Given the description of an element on the screen output the (x, y) to click on. 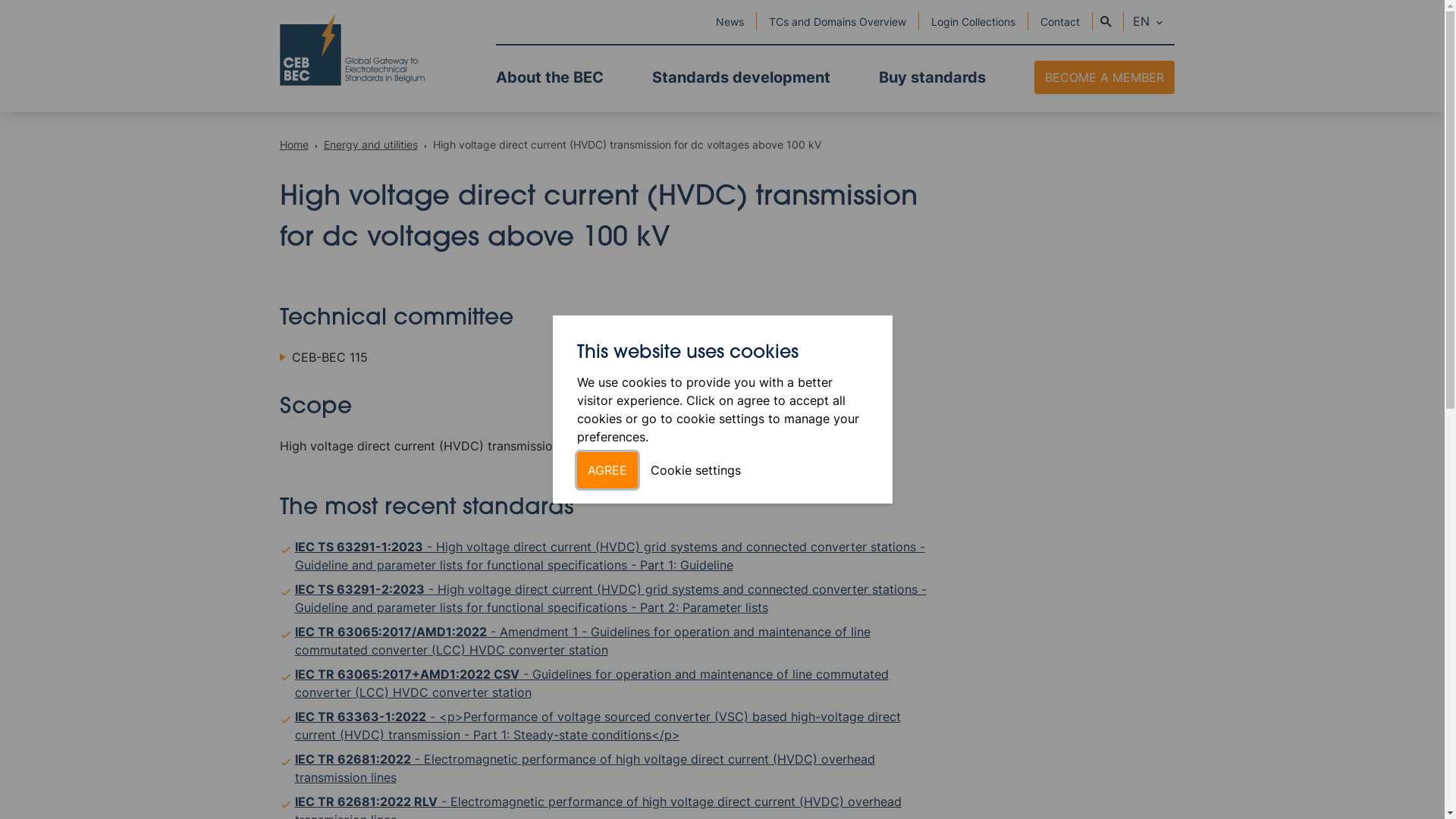
EN Element type: text (1148, 21)
AGREE Element type: text (606, 469)
Search Element type: text (1105, 21)
BECOME A MEMBER Element type: text (1104, 77)
Energy and utilities Element type: text (371, 144)
News Element type: text (729, 21)
Cookie settings Element type: text (695, 469)
Contact Element type: text (1059, 21)
Login Collections Element type: text (973, 21)
Buy standards Element type: text (931, 77)
TCs and Domains Overview Element type: text (837, 21)
Standards development Element type: text (741, 77)
Home Element type: text (294, 144)
About the BEC Element type: text (549, 77)
